Given the description of an element on the screen output the (x, y) to click on. 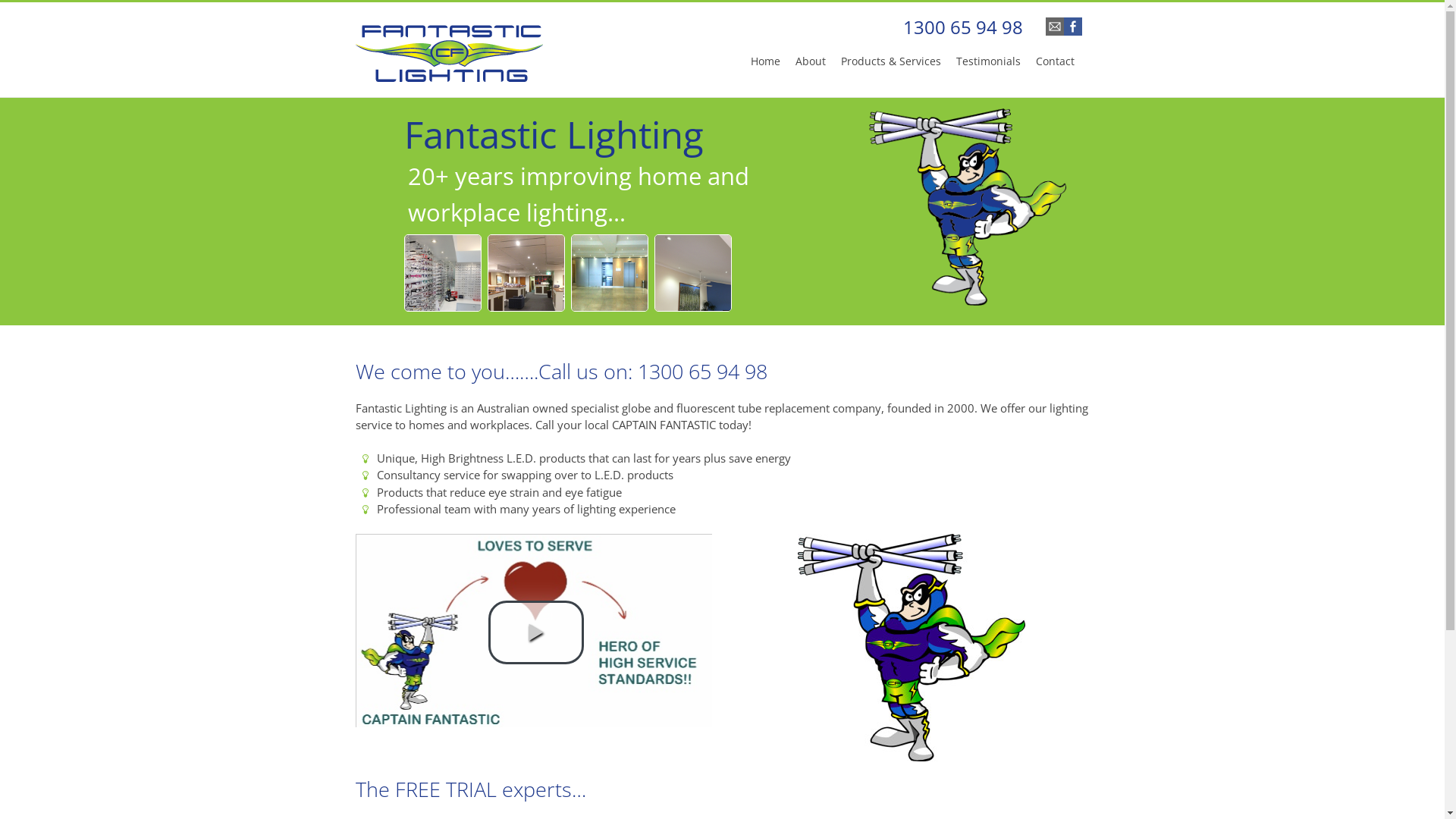
Products & Services Element type: text (889, 64)
Contact Element type: text (1055, 64)
1300 65 94 98 Element type: text (962, 26)
Home Element type: text (765, 64)
About Element type: text (809, 64)
Testimonials Element type: text (987, 64)
